Given the description of an element on the screen output the (x, y) to click on. 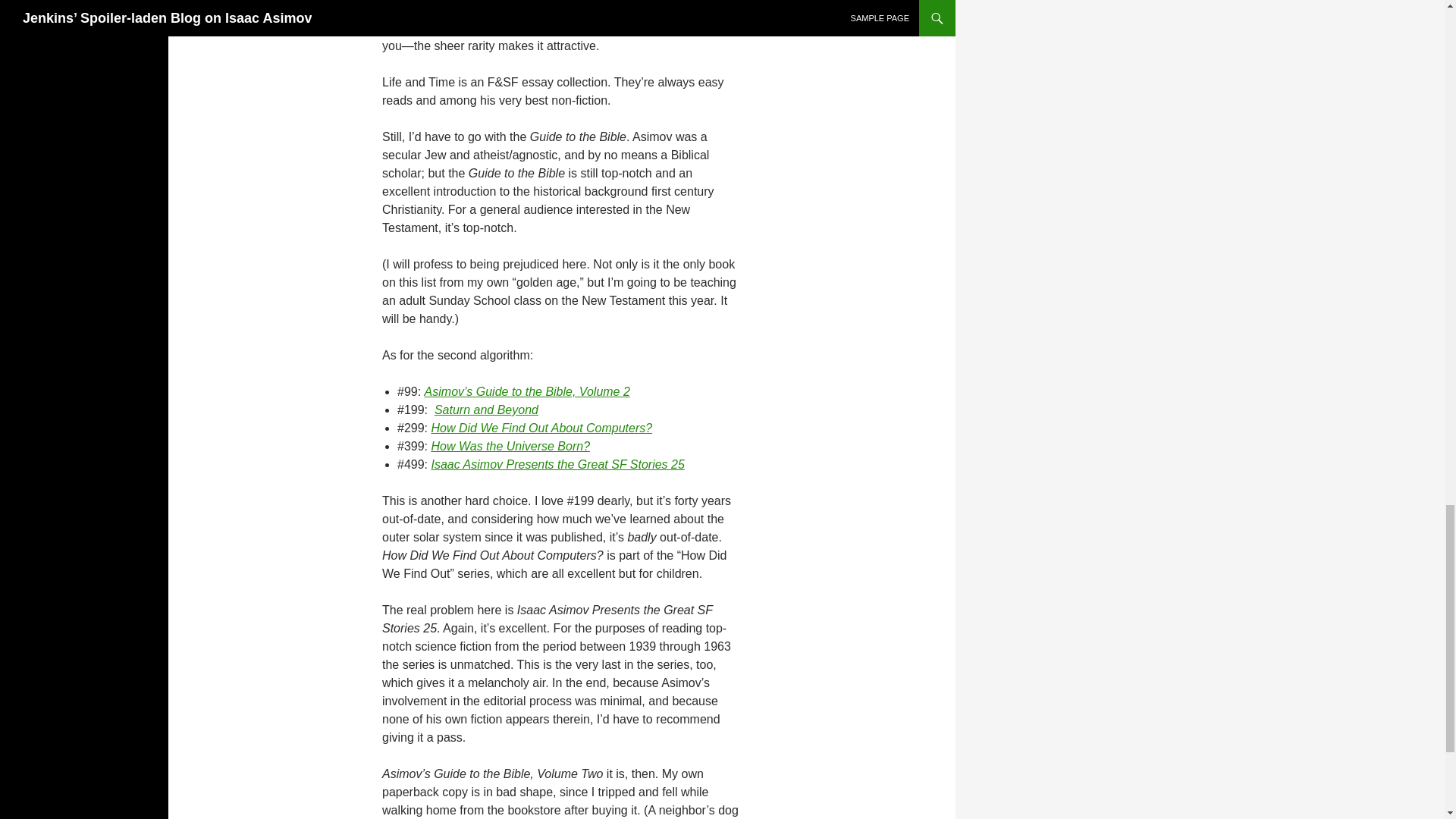
How Did We Find Out About Computers? (541, 427)
Saturn and Beyond (485, 409)
How Was the Universe Born? (509, 445)
Isaac Asimov Presents the Great SF Stories 25 (557, 463)
